Given the description of an element on the screen output the (x, y) to click on. 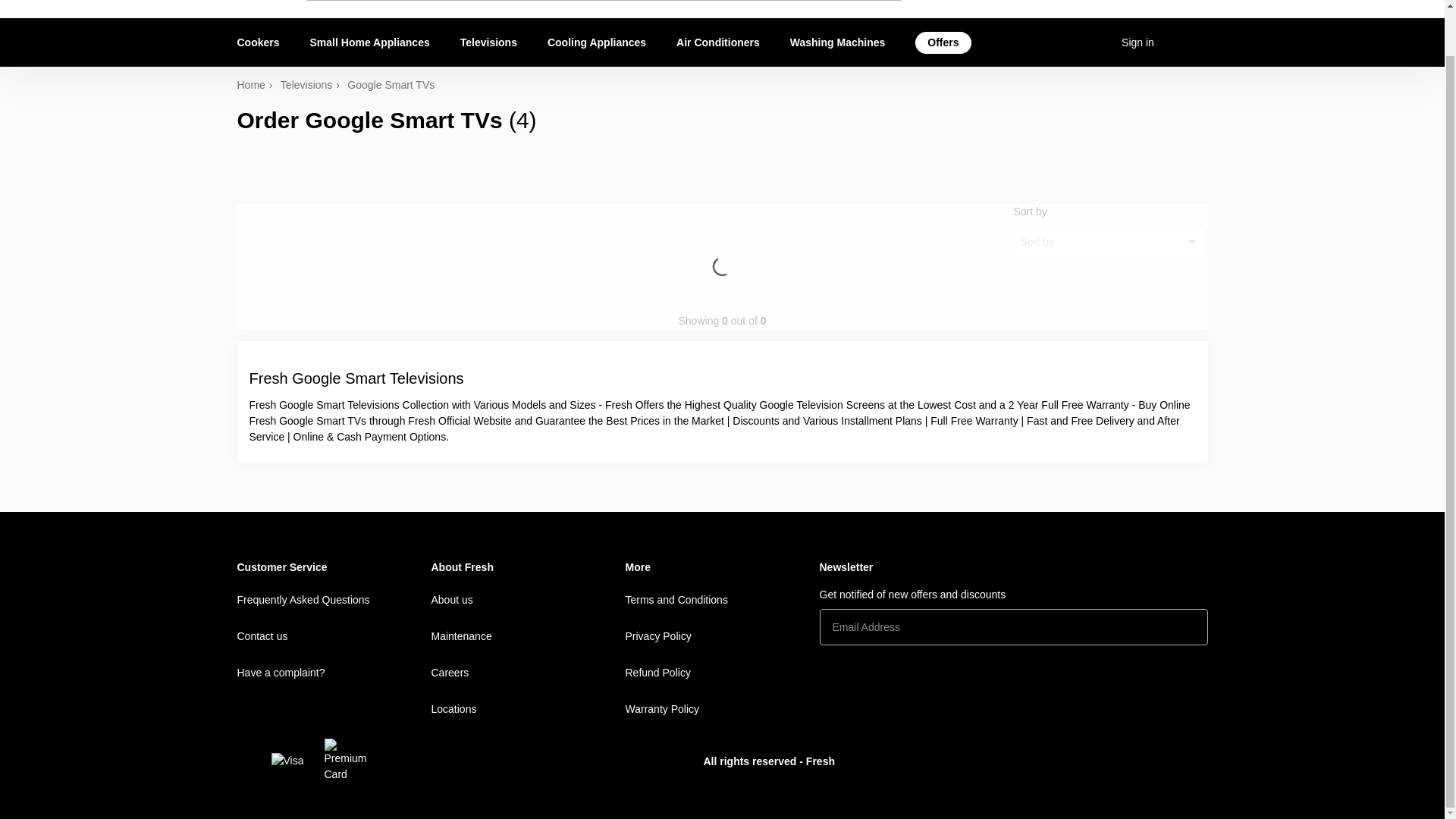
Frequently Asked Questions (332, 599)
Cooling Appliances (596, 42)
Contact us (332, 636)
Air Conditioners (717, 42)
Cookers (264, 42)
Televisions (314, 84)
Offers (942, 42)
Televisions (488, 42)
Small Home Appliances (370, 42)
Home (257, 84)
Have a complaint? (332, 672)
Washing Machines (837, 42)
